Given the description of an element on the screen output the (x, y) to click on. 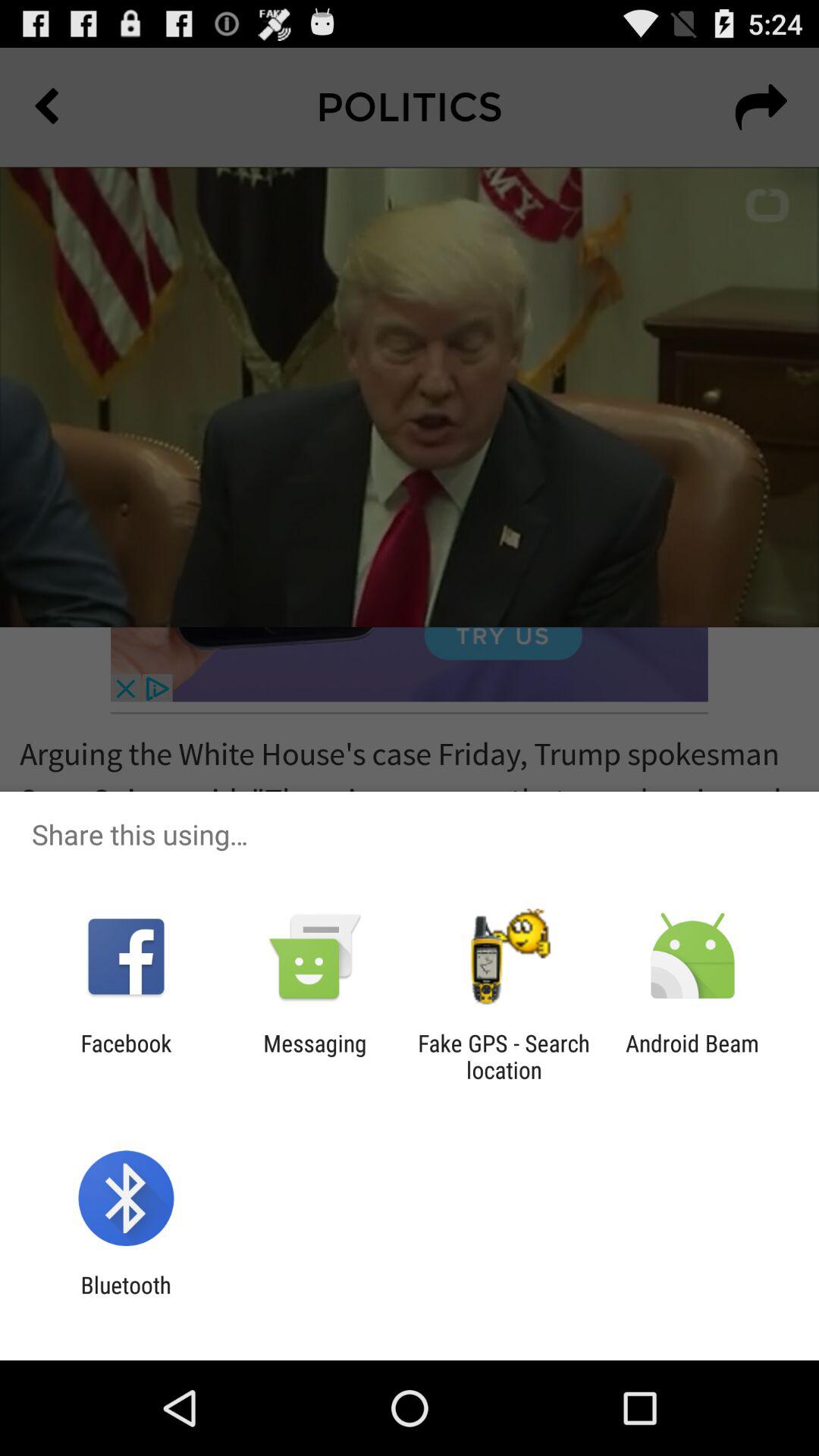
swipe to android beam item (692, 1056)
